Given the description of an element on the screen output the (x, y) to click on. 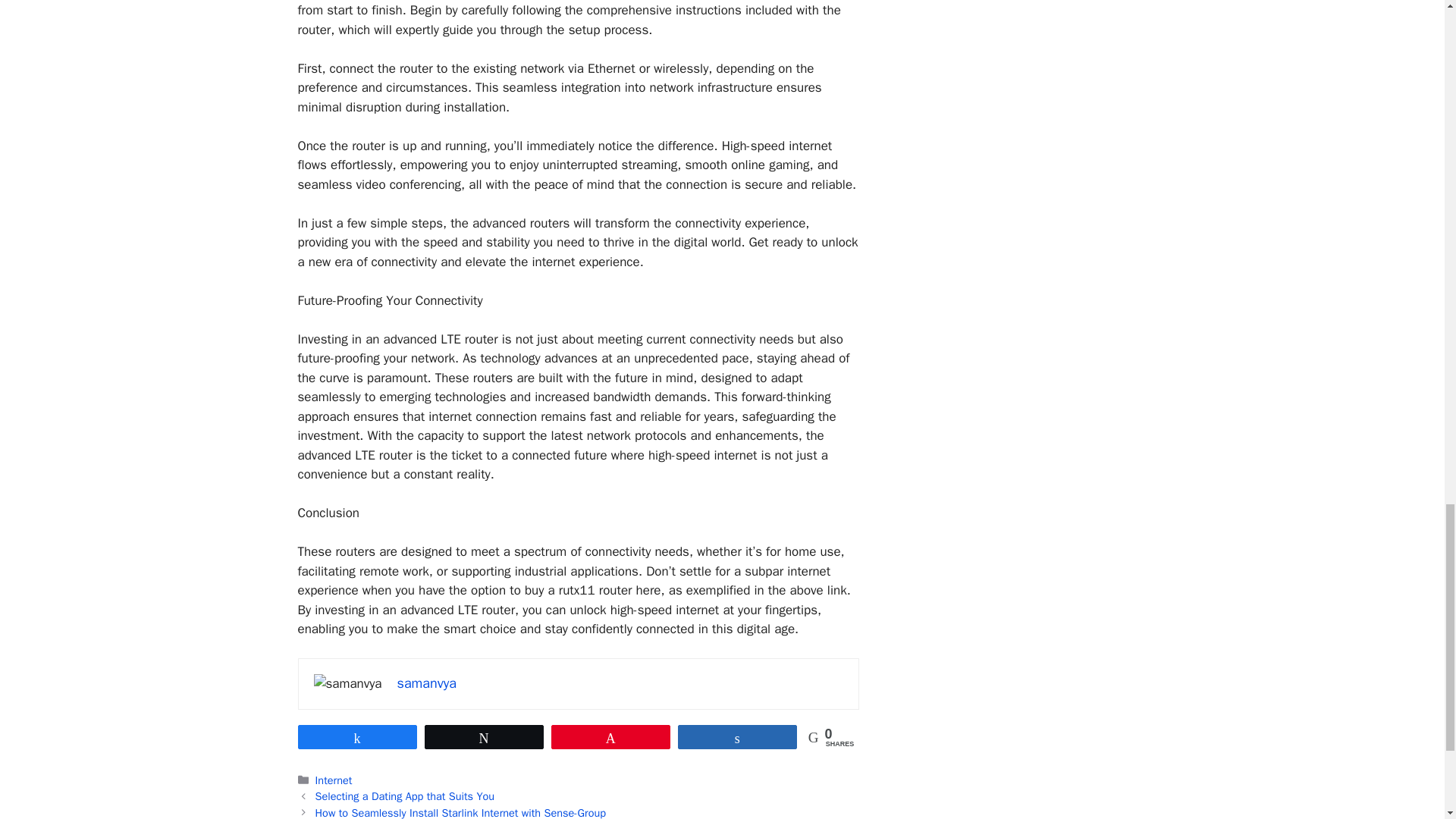
How to Seamlessly Install Starlink Internet with Sense-Group (460, 812)
Selecting a Dating App that Suits You (405, 796)
Internet (333, 780)
samanvya (427, 682)
